Given the description of an element on the screen output the (x, y) to click on. 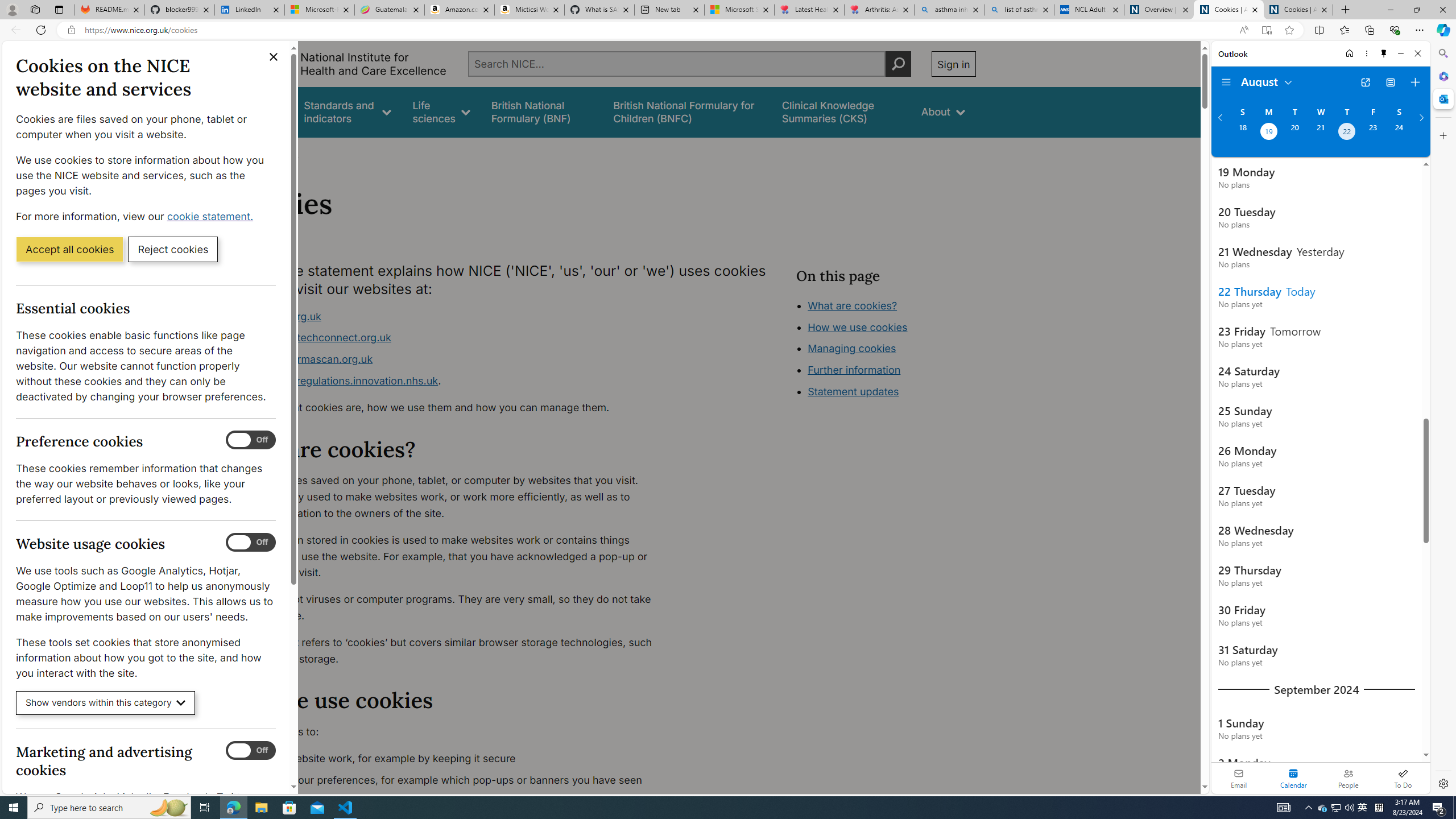
Statement updates (853, 391)
Home (241, 152)
About (283, 152)
Open in new tab (1365, 82)
Saturday, August 24, 2024.  (1399, 132)
Perform search (898, 63)
How we use cookies (896, 389)
App bar (728, 29)
